Given the description of an element on the screen output the (x, y) to click on. 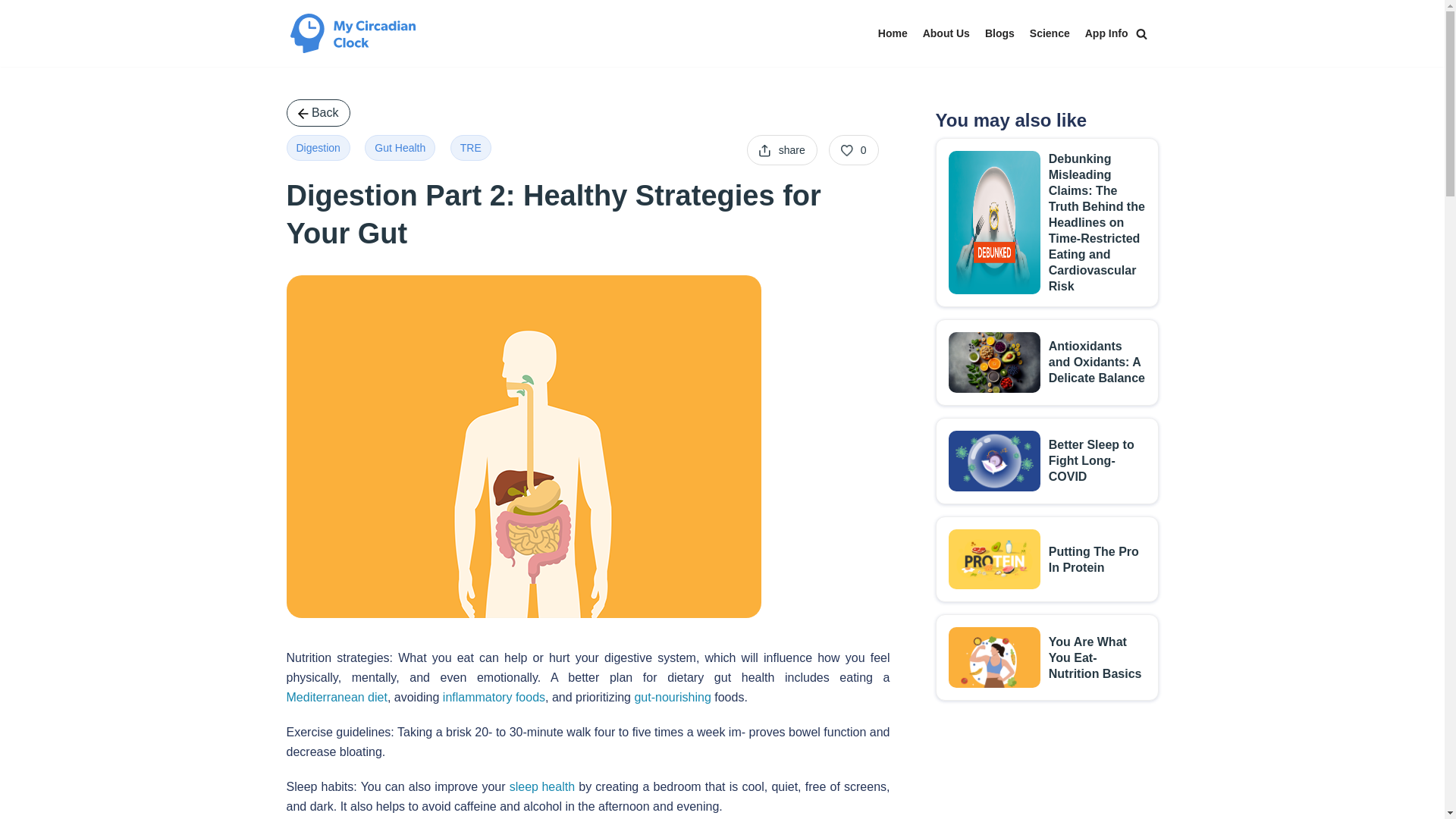
inflammatory foods (493, 697)
Gut Health (400, 147)
myCircadianClock Blog (351, 33)
Home (892, 33)
About Us (946, 33)
Share (781, 150)
Science (1049, 33)
Digestion (318, 147)
0 (853, 150)
TRE (470, 147)
Digestion (318, 147)
Gut Health (400, 147)
Mediterranean diet (336, 697)
back (318, 112)
